Given the description of an element on the screen output the (x, y) to click on. 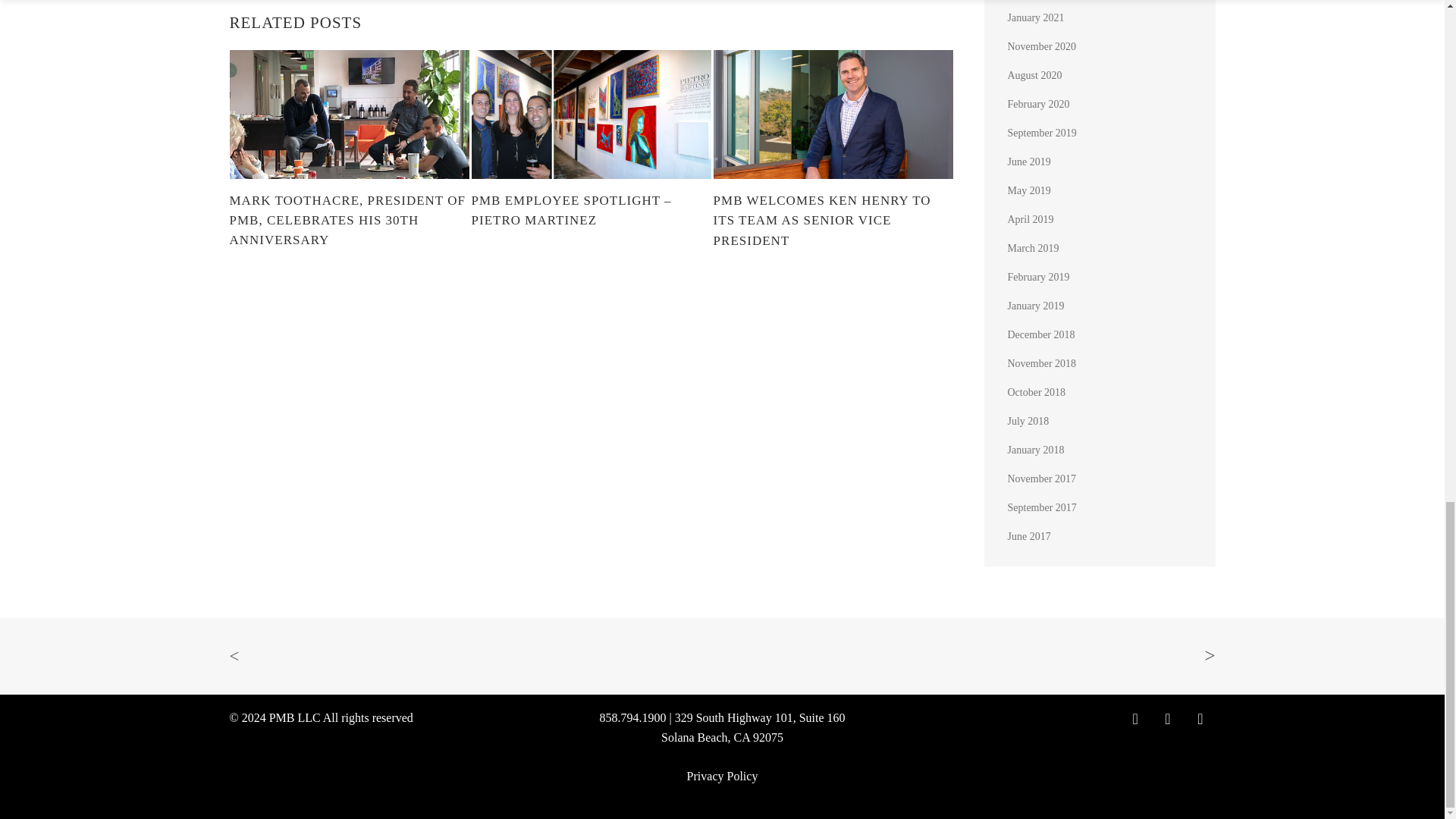
PMB Welcomes Ken Henry to its Team as Senior Vice President (833, 220)
